Given the description of an element on the screen output the (x, y) to click on. 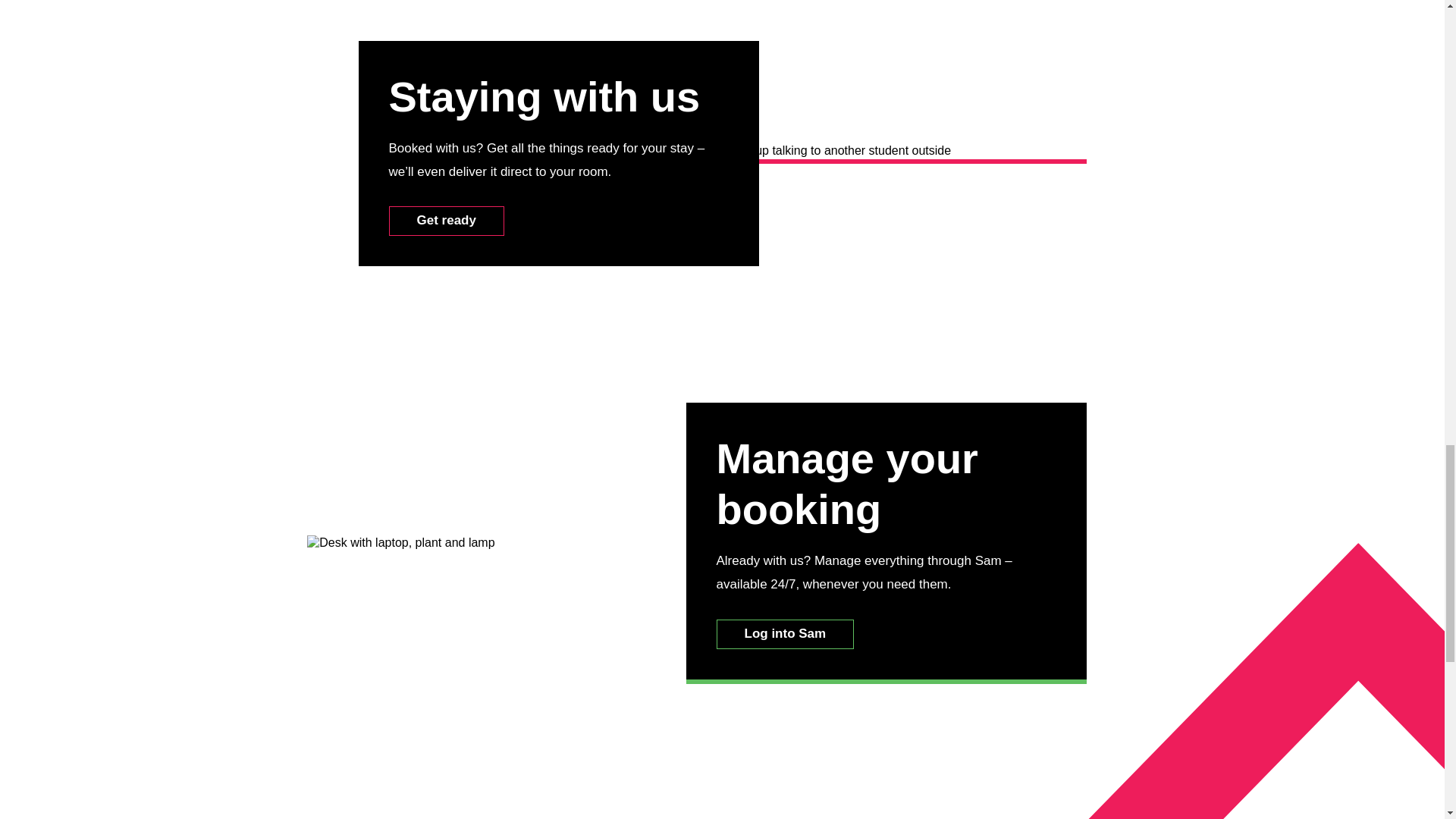
Staying with us - Get ready (445, 220)
Manage your booking - Log into Sam (784, 634)
Get ready (445, 220)
Log into Sam (784, 634)
